Given the description of an element on the screen output the (x, y) to click on. 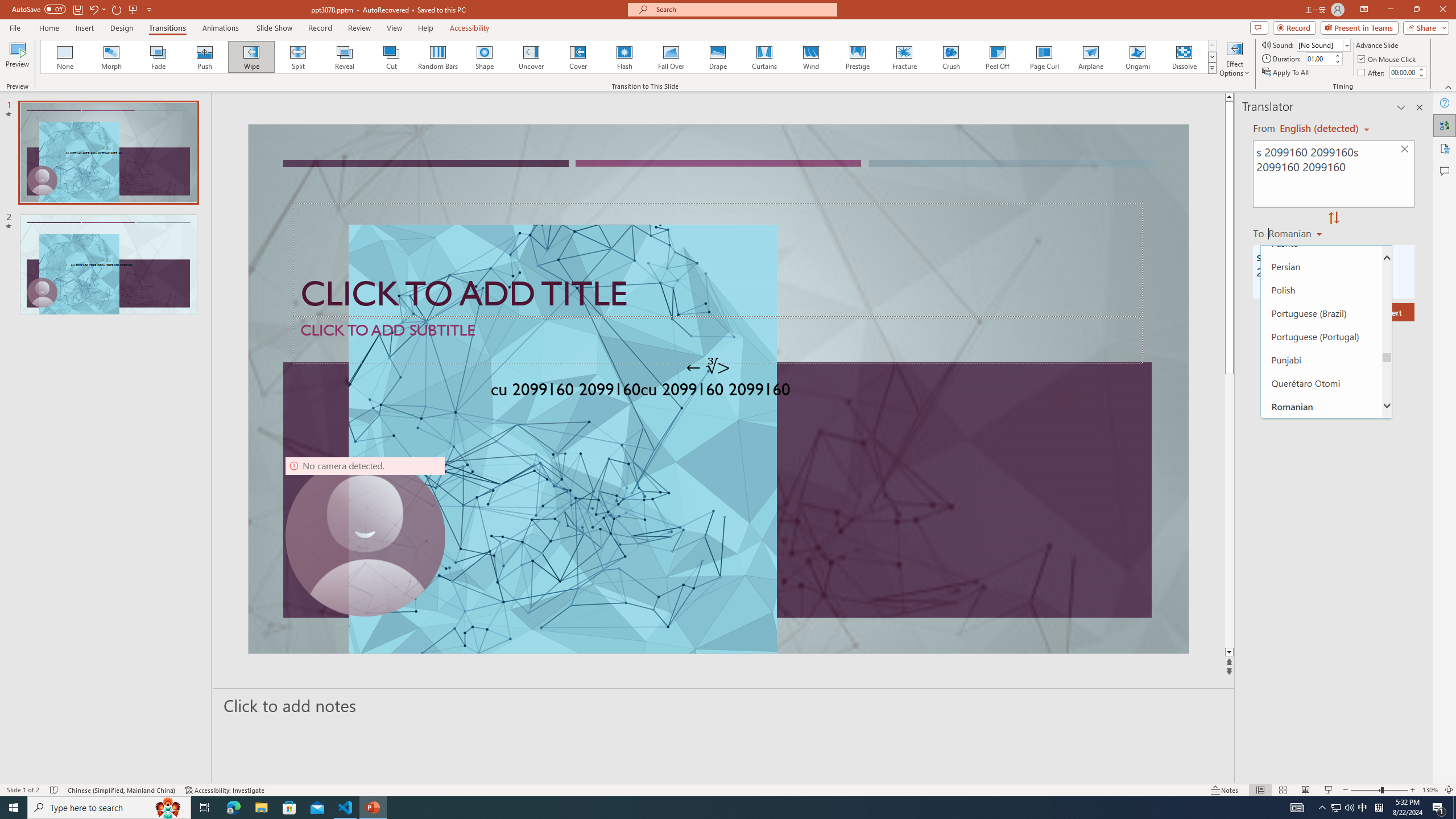
Shona (1320, 615)
Slovak (1320, 685)
Transition Effects (1212, 67)
Romanian (1320, 405)
Portuguese (Brazil) (1320, 313)
Czech (detected) (1319, 128)
Reveal (344, 56)
Origami (1136, 56)
Prestige (857, 56)
TextBox 7 (708, 367)
